Given the description of an element on the screen output the (x, y) to click on. 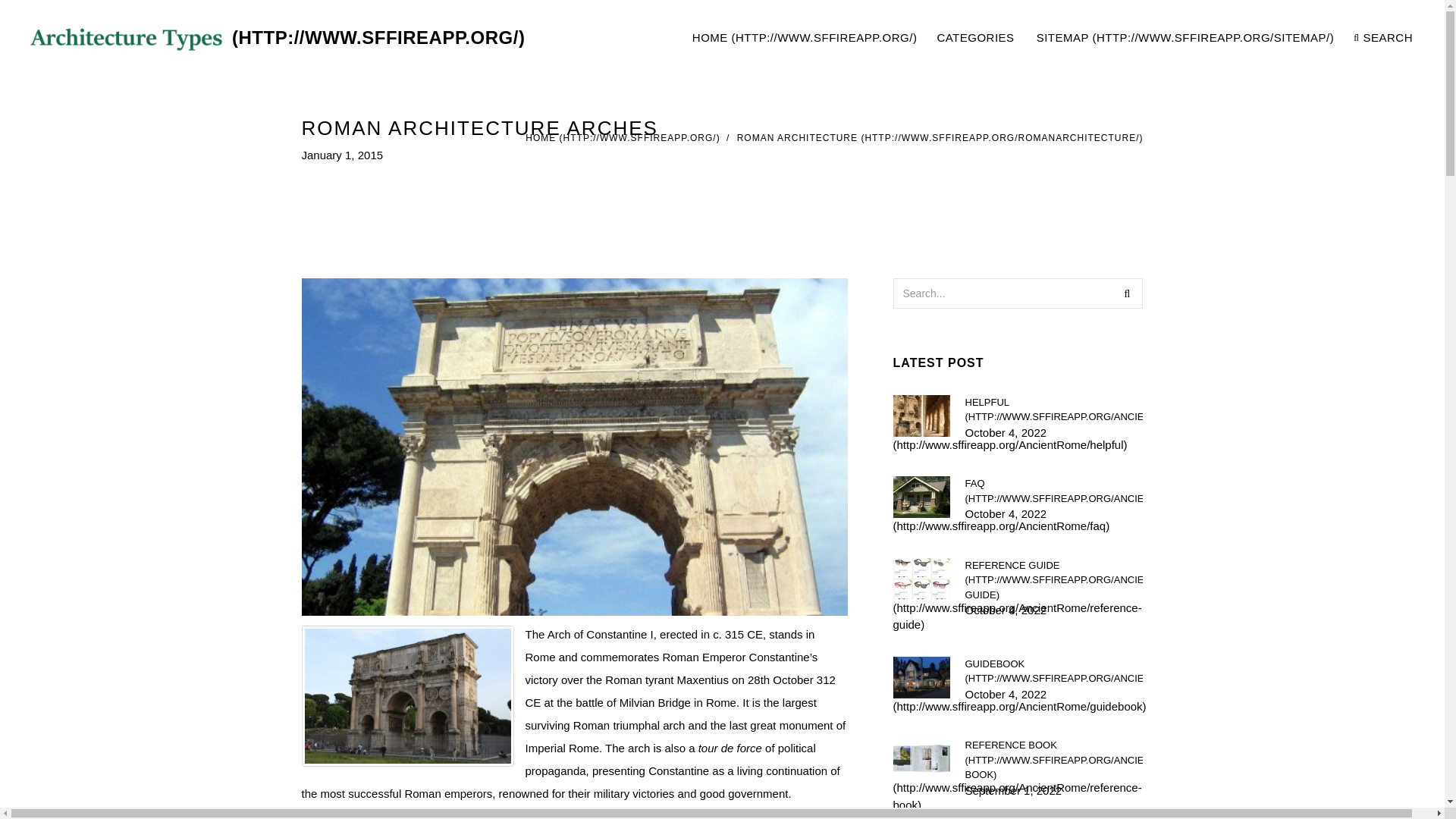
ROMAN ARCHITECTURE (939, 137)
Search (1051, 38)
REFERENCE BOOK (1126, 292)
HELPFUL (1052, 759)
Architecture Types (1052, 408)
FAQ (273, 38)
HOME (1052, 490)
SEARCH (622, 137)
REFERENCE GUIDE (1382, 38)
CATEGORIES (1052, 579)
GUIDEBOOK (976, 38)
HOME (1052, 671)
SITEMAP (804, 38)
